Given the description of an element on the screen output the (x, y) to click on. 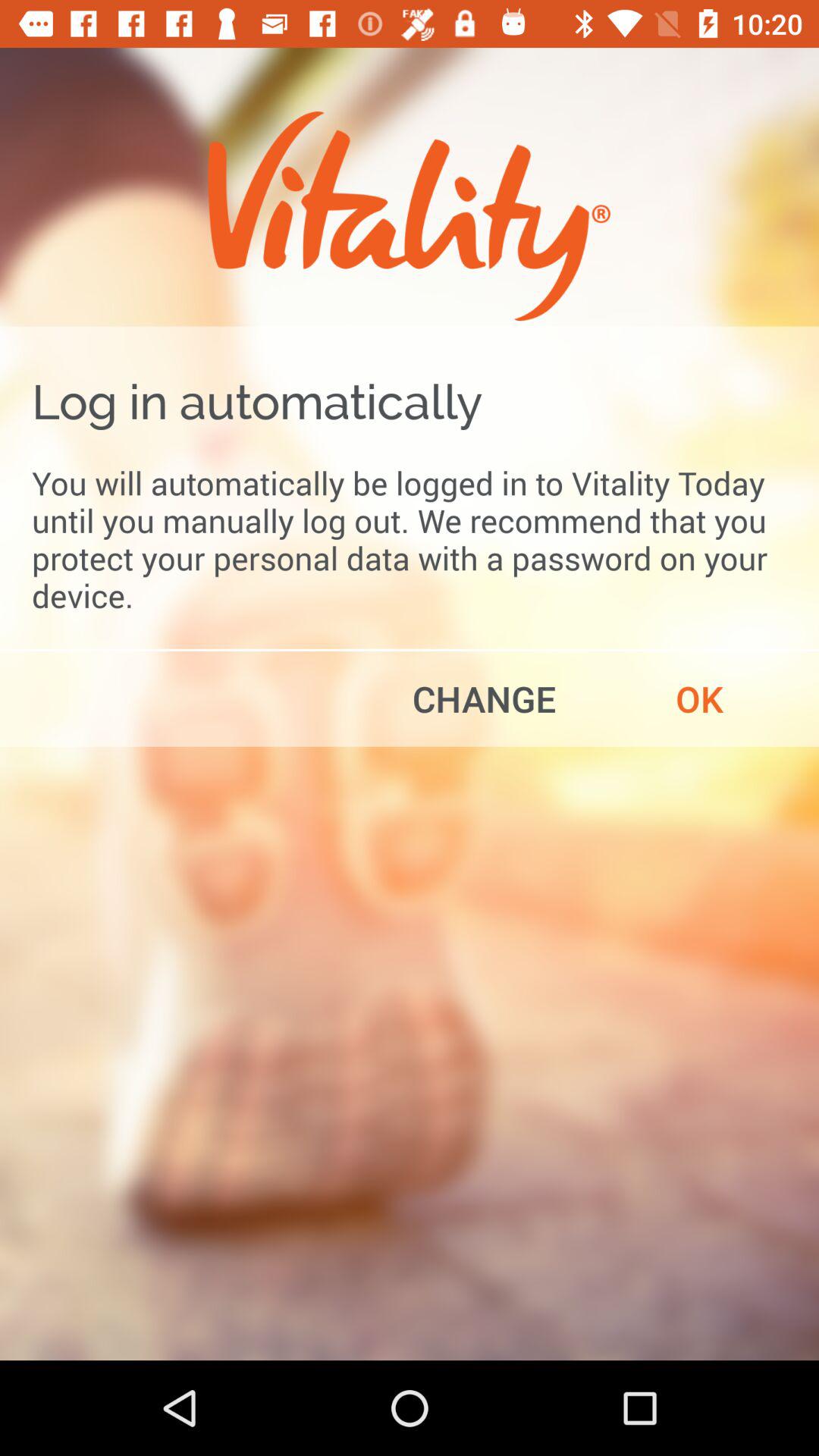
click item on the right (699, 698)
